Given the description of an element on the screen output the (x, y) to click on. 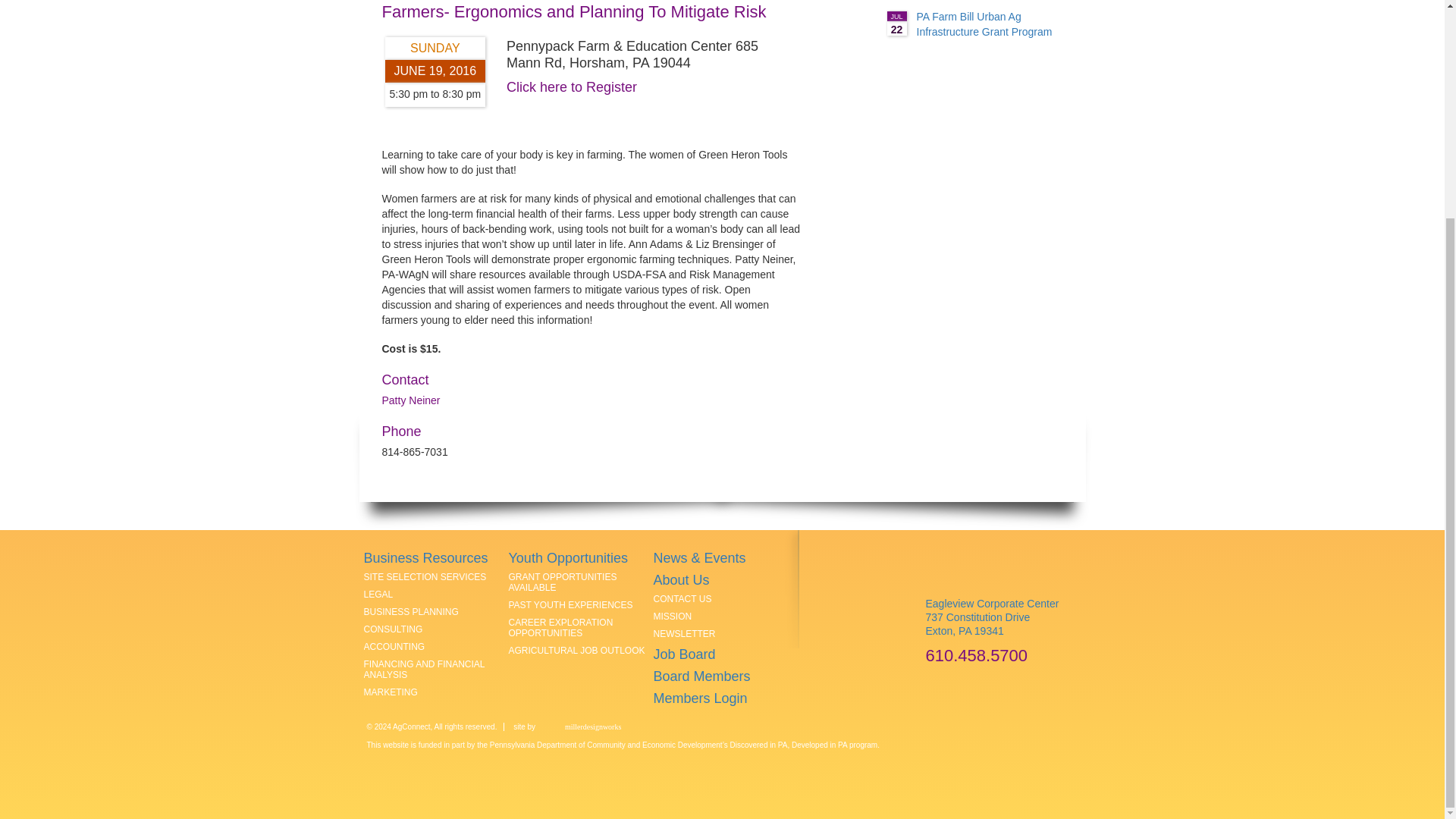
FINANCING AND FINANCIAL ANALYSIS (424, 669)
MARKETING (390, 692)
Patty Neiner (411, 400)
AGRICULTURAL JOB OUTLOOK (576, 650)
ACCOUNTING (394, 646)
Youth Opportunities (567, 557)
CONSULTING (393, 629)
PAST YOUTH EXPERIENCES (569, 604)
Email Patty Neiner (411, 400)
SITE SELECTION SERVICES (425, 576)
Business Resources (425, 557)
LEGAL (896, 23)
PA Farm Bill Urban Ag Infrastructure Grant Program (378, 593)
GRANT OPPORTUNITIES AVAILABLE (983, 23)
